Given the description of an element on the screen output the (x, y) to click on. 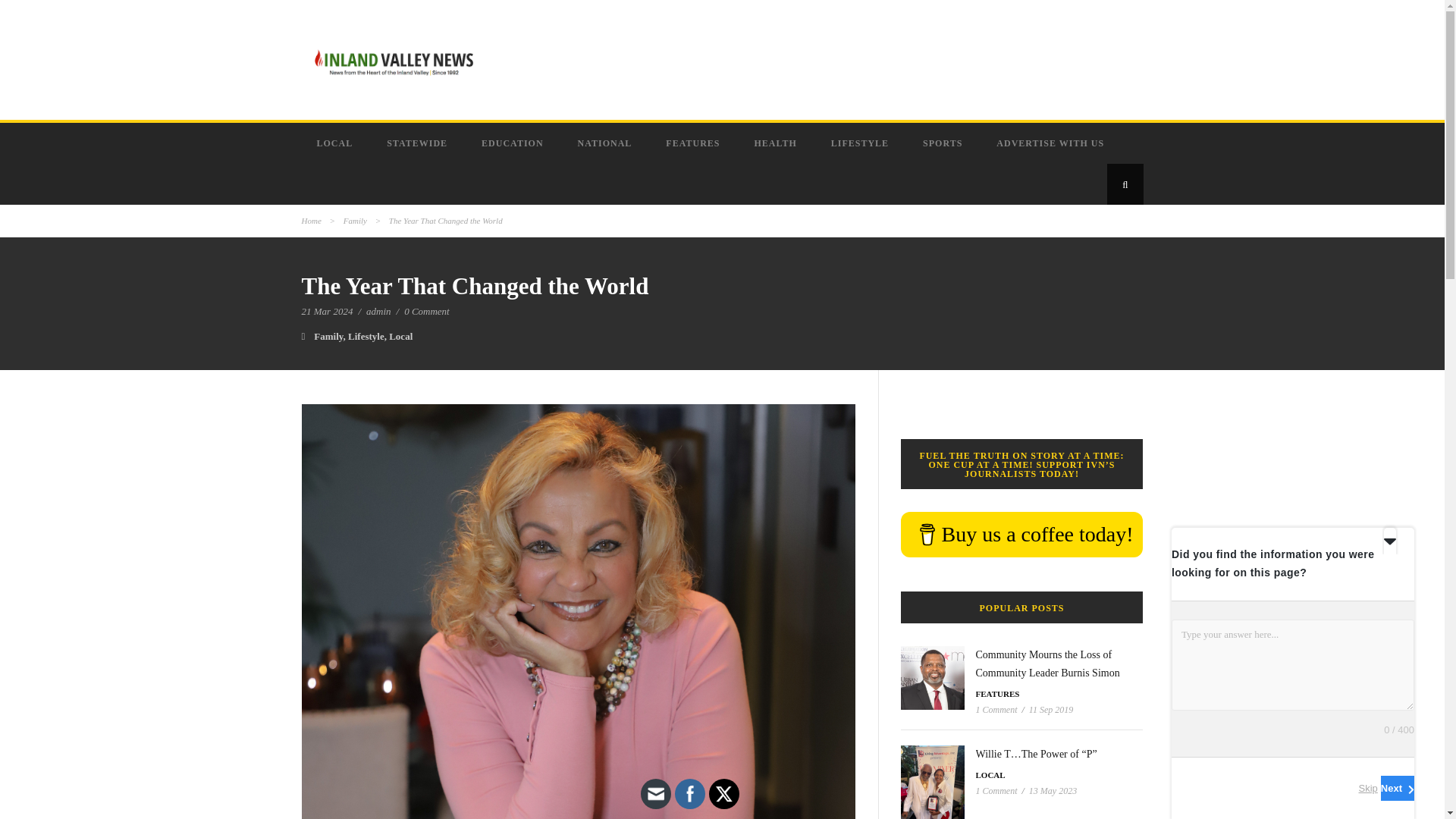
Family (354, 220)
11 Sep 2019 (1051, 709)
Twitter (724, 793)
Local (400, 336)
Posts by admin (378, 310)
LIFESTYLE (861, 142)
STATEWIDE (418, 142)
1 Comment (995, 709)
Buy us a coffee today! (1021, 534)
Community Mourns the Loss of Community Leader Burnis Simon (1047, 663)
